Given the description of an element on the screen output the (x, y) to click on. 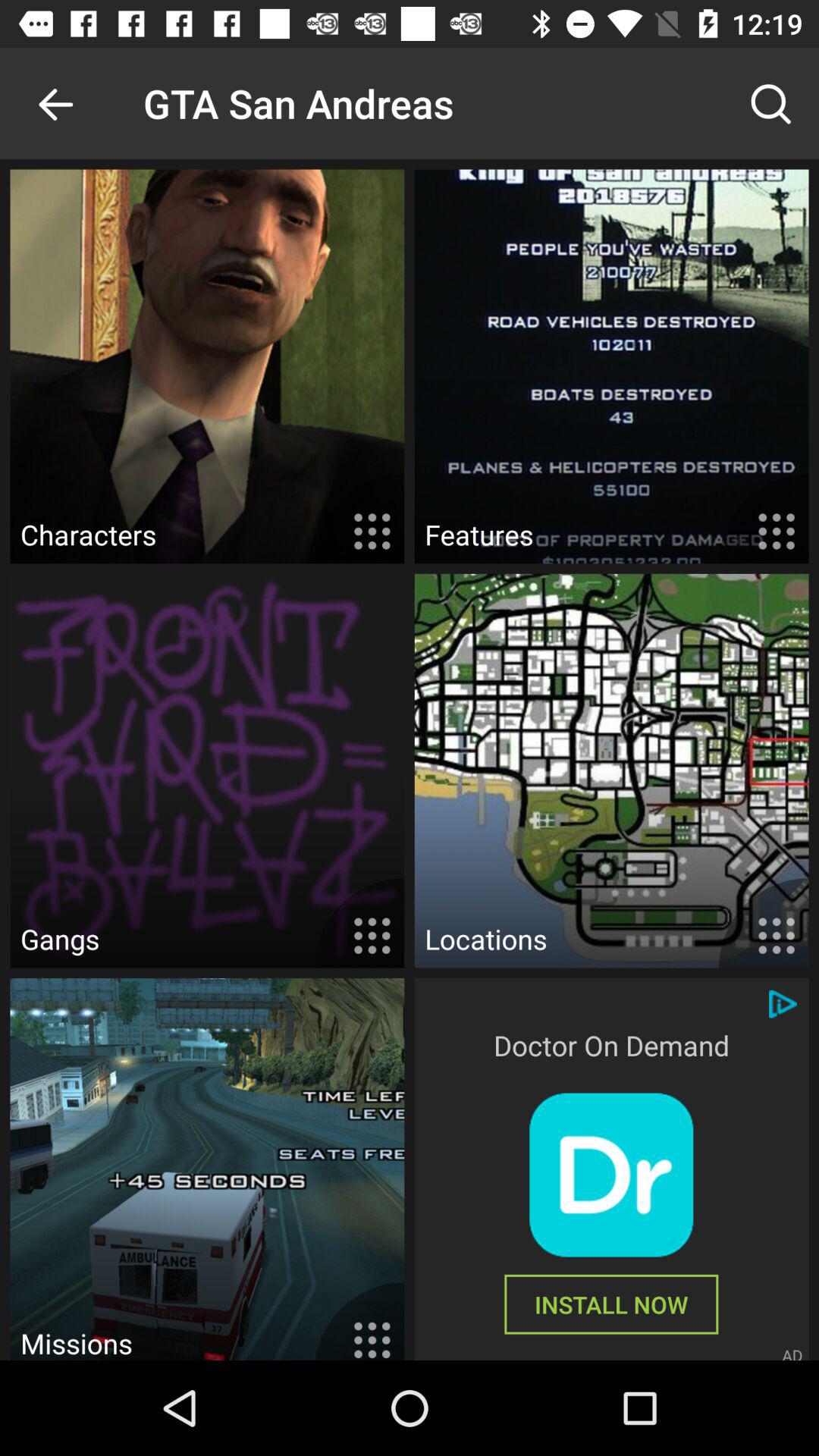
install doctor on demand (611, 1174)
